Given the description of an element on the screen output the (x, y) to click on. 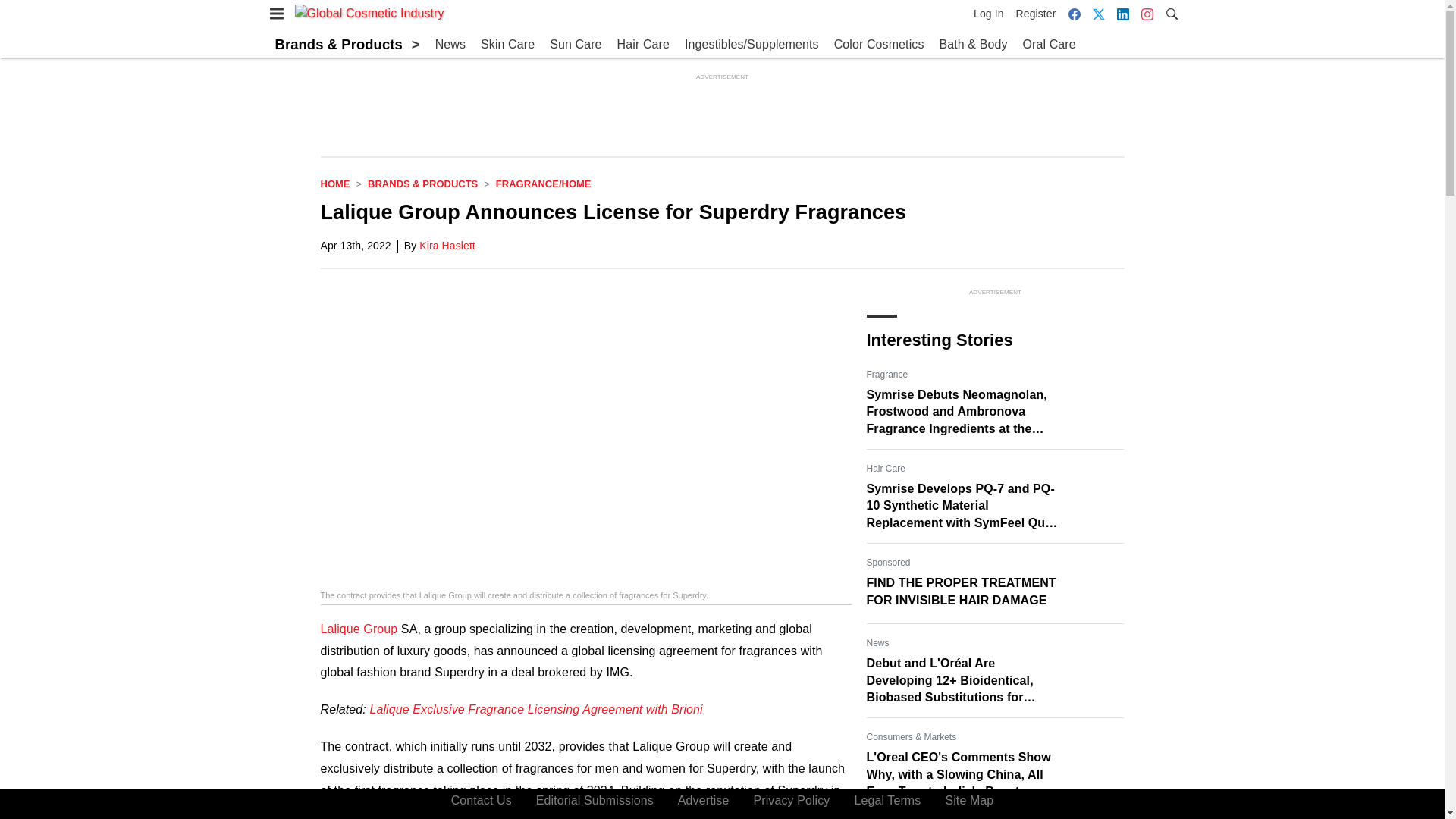
Facebook icon (1073, 14)
Instagram icon (1146, 13)
News (450, 44)
Search (1170, 12)
LinkedIn icon (1122, 14)
Sponsored (888, 562)
Skin Care (507, 44)
Facebook icon (1073, 13)
Twitter X icon (1097, 13)
Sun Care (575, 44)
Home (334, 183)
Oral Care (1049, 44)
Register (1036, 13)
Twitter X icon (1097, 14)
Log In (992, 13)
